Given the description of an element on the screen output the (x, y) to click on. 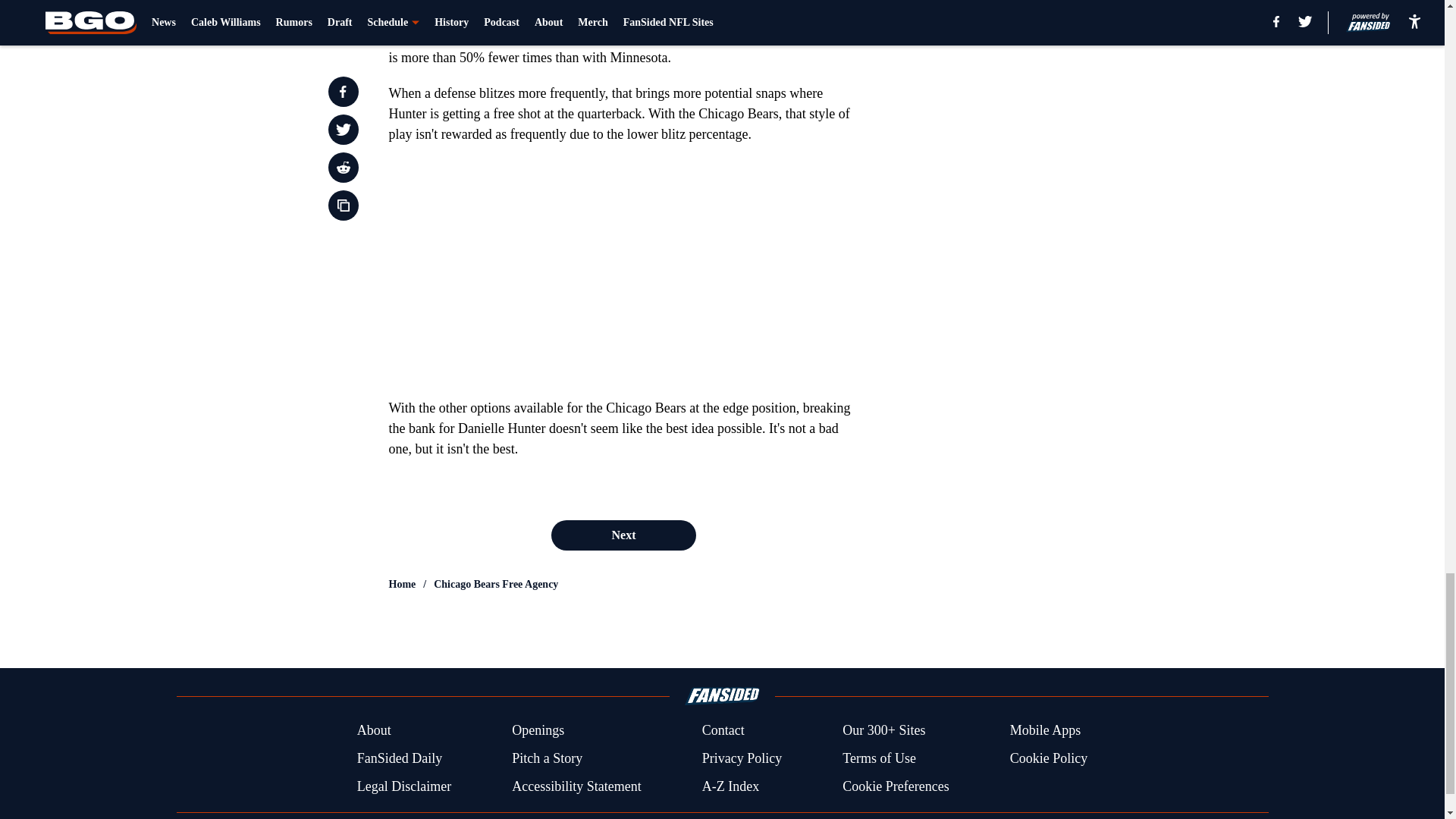
Home (401, 584)
Contact (722, 730)
FanSided Daily (399, 758)
Chicago Bears Free Agency (495, 584)
Next (622, 535)
Mobile Apps (1045, 730)
Openings (538, 730)
About (373, 730)
